Given the description of an element on the screen output the (x, y) to click on. 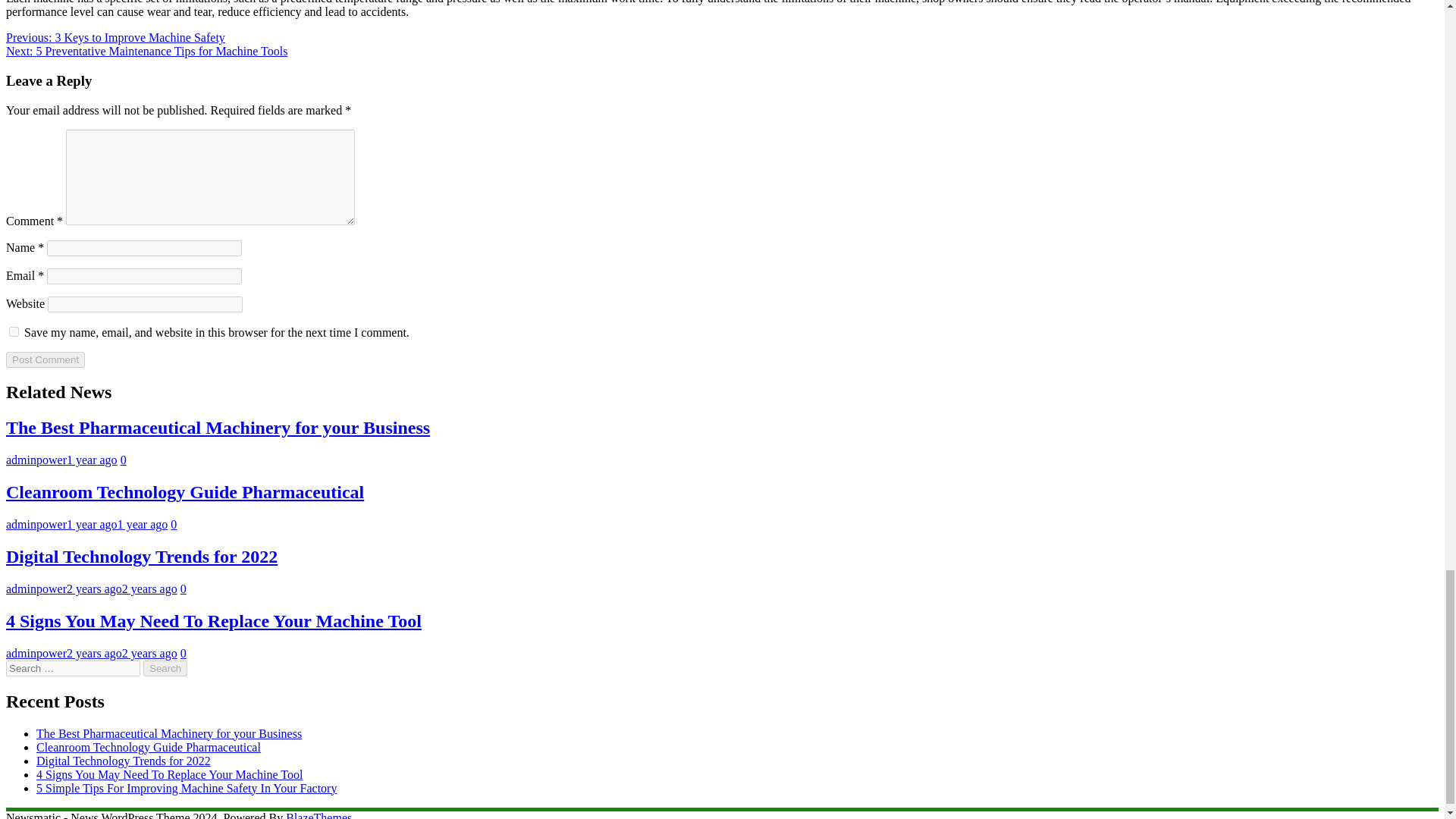
Search (164, 668)
Search (164, 668)
Post Comment (44, 359)
yes (13, 331)
